Given the description of an element on the screen output the (x, y) to click on. 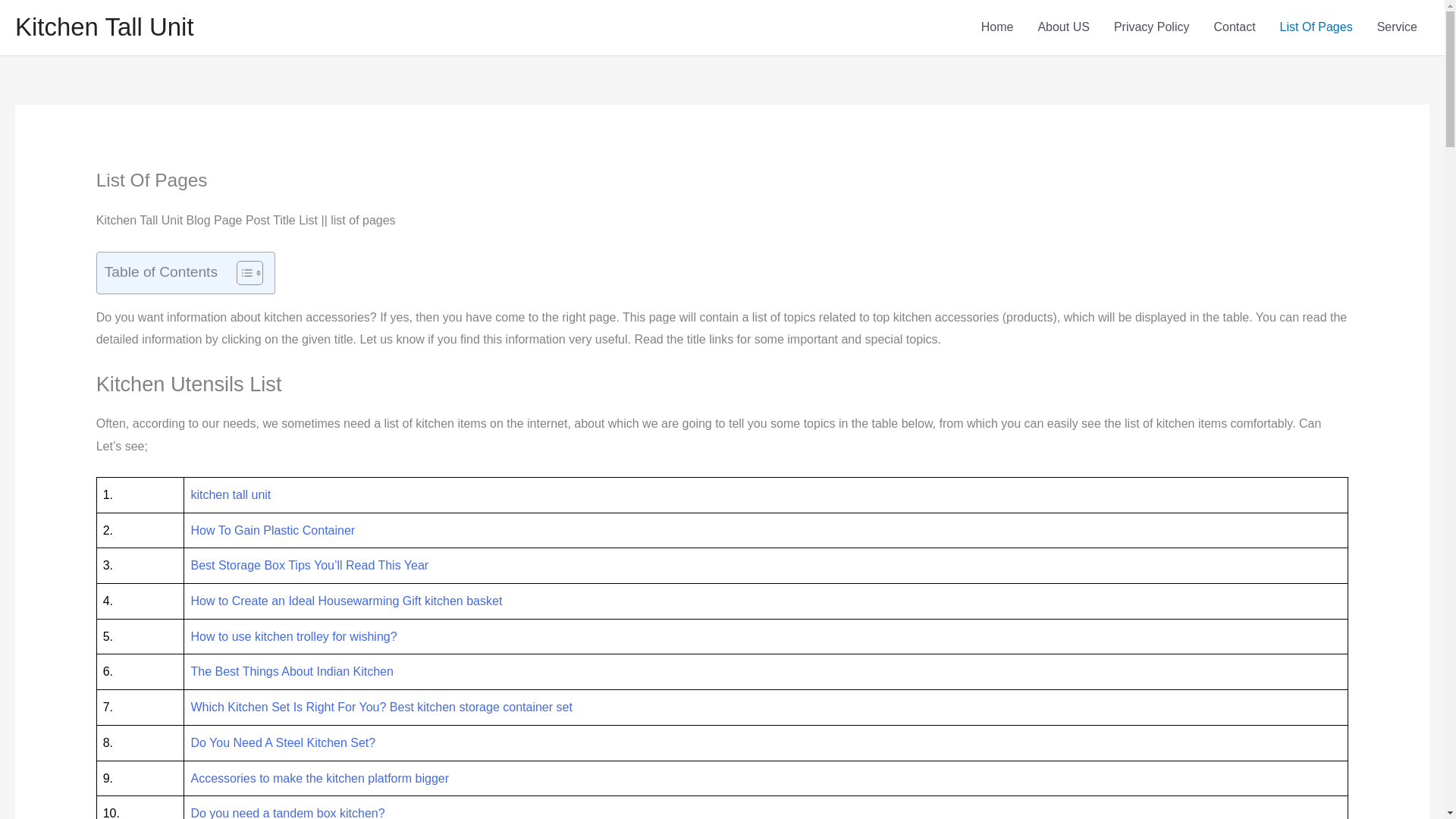
Privacy Policy (1152, 27)
The Best Things About Indian Kitchen (291, 671)
How To Gain Plastic Container (272, 530)
Kitchen Tall Unit (103, 26)
Accessories to make the kitchen platform bigger (319, 778)
Home (997, 27)
Contact (1233, 27)
Service (1397, 27)
About US (1062, 27)
